Given the description of an element on the screen output the (x, y) to click on. 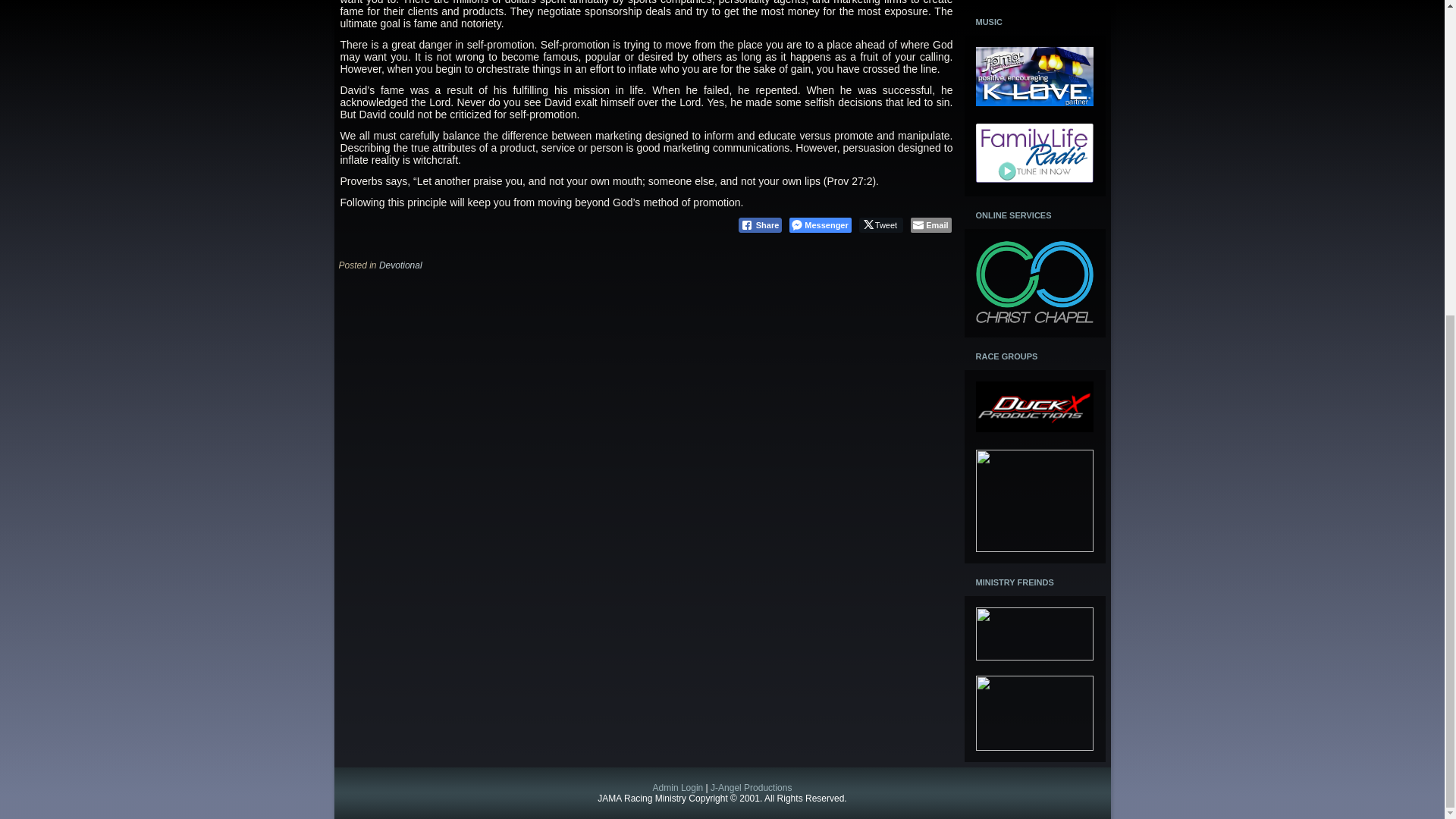
Email (930, 224)
Tweet (880, 224)
Admin Login (677, 787)
Share (760, 224)
Messenger (819, 224)
Devotional (400, 265)
J-Angel Productions (751, 787)
